Given the description of an element on the screen output the (x, y) to click on. 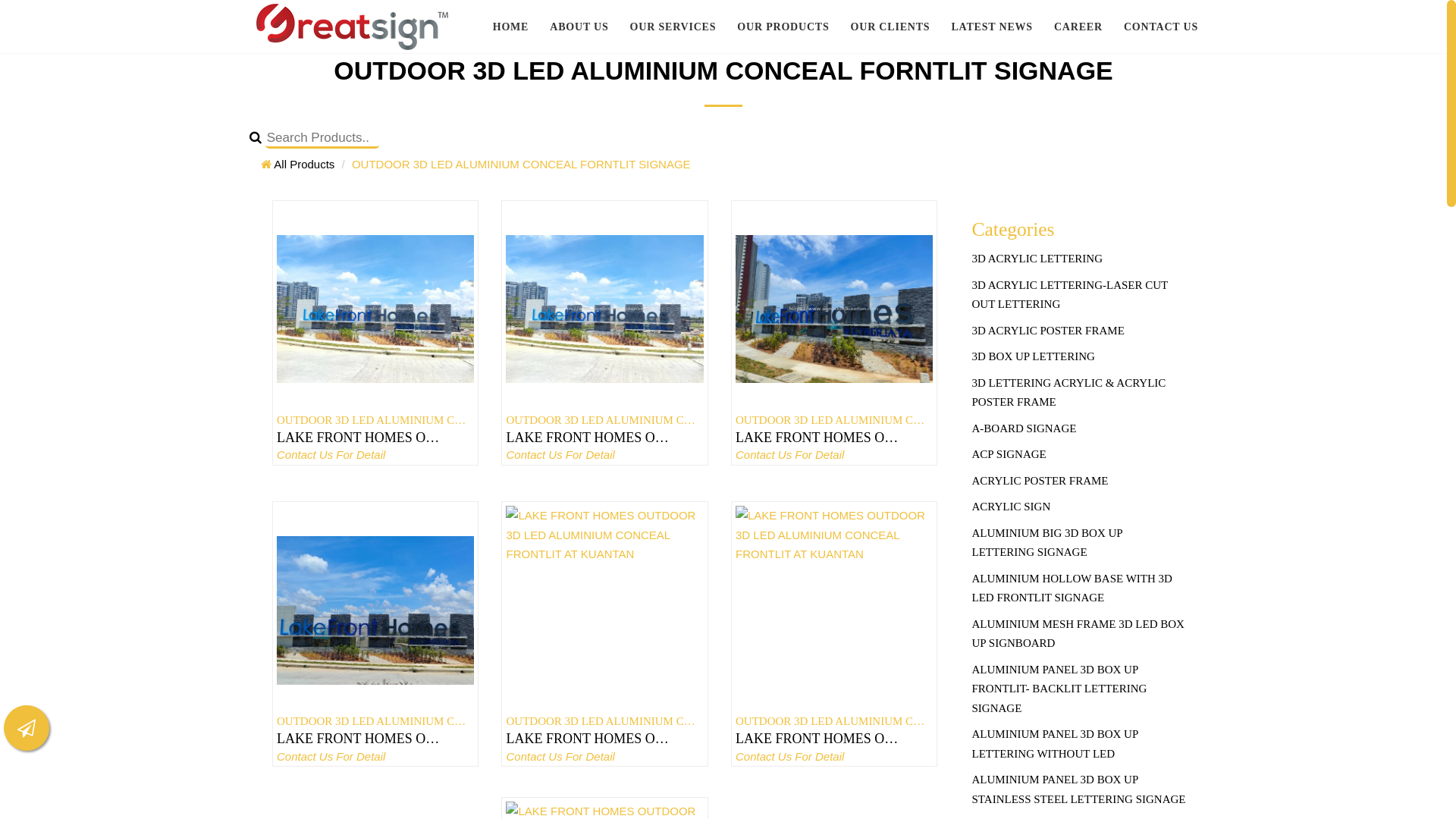
ALUMINIUM BIG 3D BOX UP LETTERING SIGNAGE Element type: text (1079, 543)
Contact Us For Detail Element type: text (368, 454)
ALUMINIUM PANEL 3D BOX UP LETTERING WITHOUT LED Element type: text (1079, 743)
ACRYLIC SIGN Element type: text (1079, 507)
3D ACRYLIC LETTERING-LASER CUT OUT LETTERING Element type: text (1079, 295)
OUTDOOR 3D LED ALUMINIUM CONCEAL FORNTLIT SIGNAGE Element type: text (520, 163)
Contact Us For Detail Element type: text (368, 756)
ACRYLIC POSTER FRAME Element type: text (1079, 481)
ALUMINIUM MESH FRAME 3D LED BOX UP SIGNBOARD Element type: text (1079, 634)
ABOUT US Element type: text (578, 26)
OUR SERVICES Element type: text (673, 26)
3D LETTERING ACRYLIC & ACRYLIC POSTER FRAME Element type: text (1079, 392)
LATEST NEWS Element type: text (991, 26)
CAREER Element type: text (1078, 26)
3D BOX UP LETTERING Element type: text (1079, 357)
ALUMINIUM HOLLOW BASE WITH 3D LED FRONTLIT SIGNAGE Element type: text (1079, 588)
CONTACT US Element type: text (1160, 26)
OUR PRODUCTS Element type: text (782, 26)
3D ACRYLIC LETTERING Element type: text (1079, 259)
Contact Us For Detail Element type: text (827, 756)
Contact Us For Detail Element type: text (597, 454)
Contact Us For Detail Element type: text (827, 454)
OUR CLIENTS Element type: text (890, 26)
3D ACRYLIC POSTER FRAME Element type: text (1079, 331)
ACP SIGNAGE Element type: text (1079, 454)
A-BOARD SIGNAGE Element type: text (1079, 429)
 All Products Element type: text (297, 163)
Contact Us For Detail Element type: text (597, 756)
HOME Element type: text (510, 26)
ALUMINIUM PANEL 3D BOX UP STAINLESS STEEL LETTERING SIGNAGE Element type: text (1079, 789)
